Given the description of an element on the screen output the (x, y) to click on. 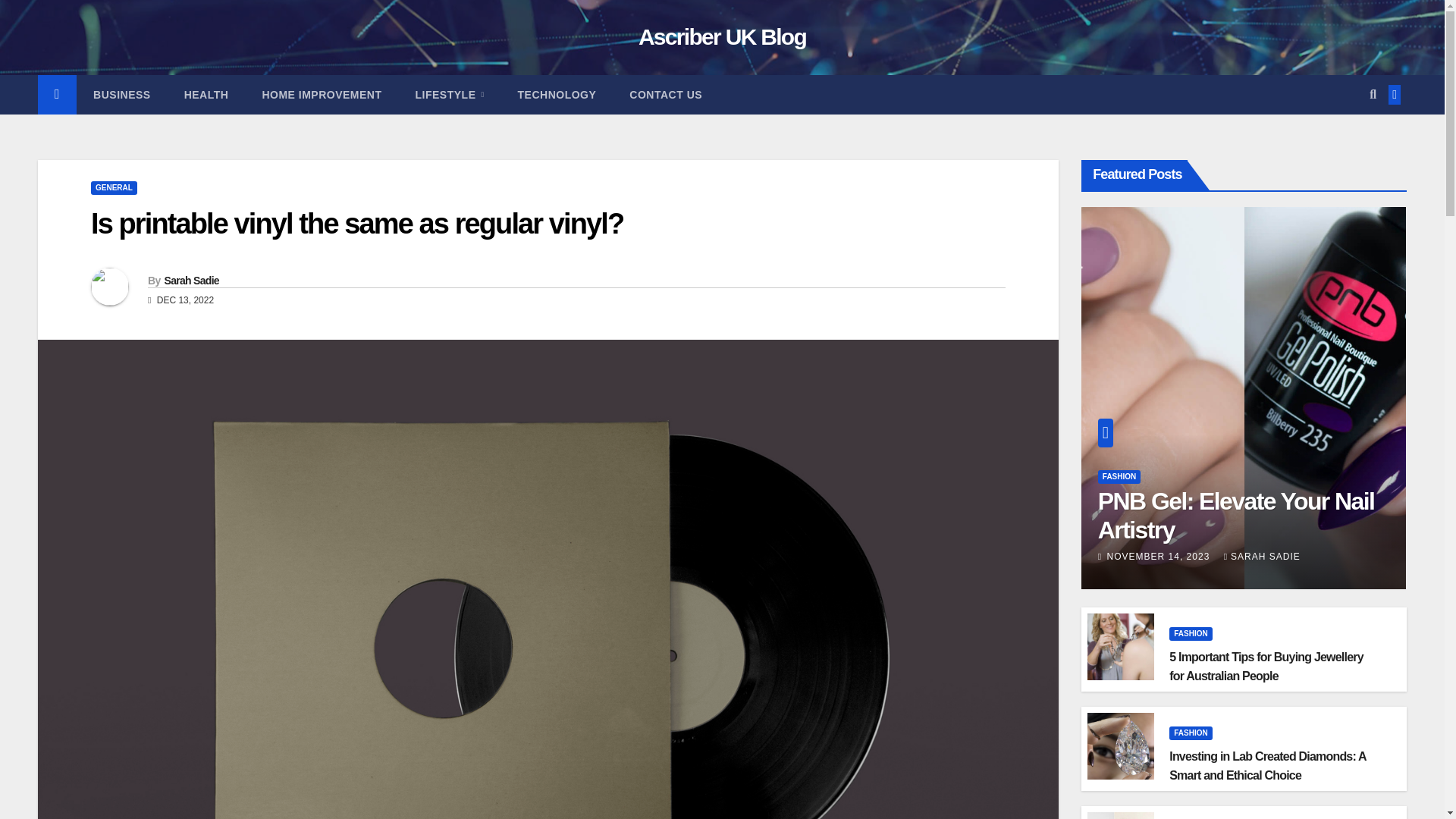
HOME IMPROVEMENT (320, 94)
TECHNOLOGY (556, 94)
CONTACT US (665, 94)
Ascriber UK Blog (722, 36)
Home Improvement (320, 94)
Permalink to: Is printable vinyl the same as regular vinyl? (356, 223)
HEALTH (206, 94)
Sarah Sadie (190, 280)
LIFESTYLE (449, 94)
GENERAL (113, 187)
Business (122, 94)
Technology (556, 94)
Contact Us (665, 94)
Is printable vinyl the same as regular vinyl? (356, 223)
LifeStyle (449, 94)
